Given the description of an element on the screen output the (x, y) to click on. 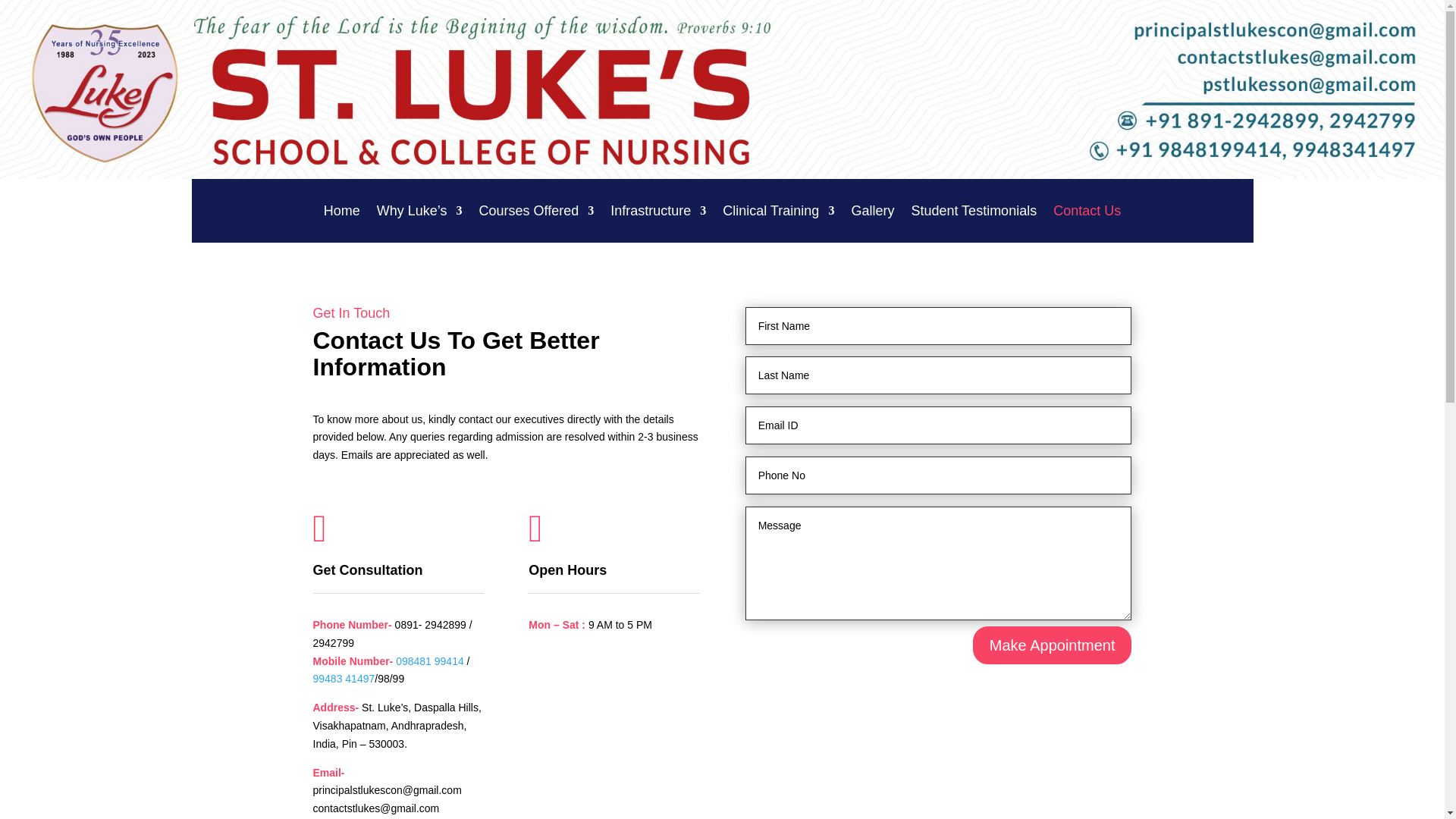
Home (341, 213)
Infrastructure (658, 213)
Clinical Training (778, 213)
Courses Offered (536, 213)
Gallery (871, 213)
Student Testimonials (973, 213)
Contact Us (1086, 213)
